Given the description of an element on the screen output the (x, y) to click on. 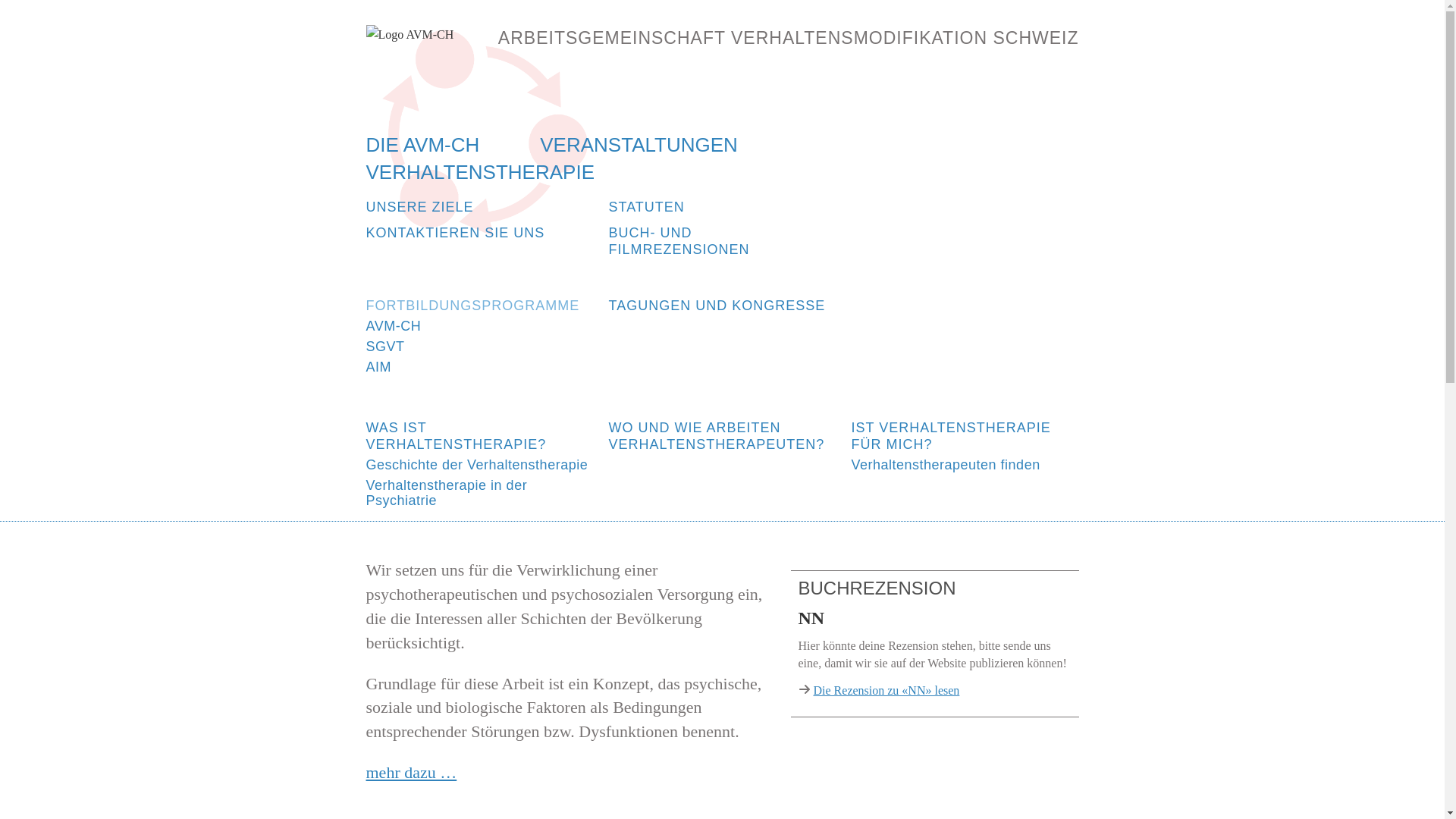
SGVT Element type: text (479, 346)
Verhaltenstherapie in der Psychiatrie Element type: text (479, 492)
AVM-CH Element type: text (479, 325)
WAS IST VERHALTENSTHERAPIE? Element type: text (479, 435)
AIM Element type: text (479, 366)
STATUTEN Element type: text (721, 206)
BUCH- UND FILMREZENSIONEN Element type: text (721, 240)
UNSERE ZIELE Element type: text (479, 206)
KONTAKTIEREN SIE UNS Element type: text (479, 232)
Verhaltenstherapeuten finden Element type: text (964, 464)
WO UND WIE ARBEITEN VERHALTENSTHERAPEUTEN? Element type: text (721, 435)
Geschichte der Verhaltenstherapie Element type: text (479, 464)
TAGUNGEN UND KONGRESSE Element type: text (721, 305)
